Given the description of an element on the screen output the (x, y) to click on. 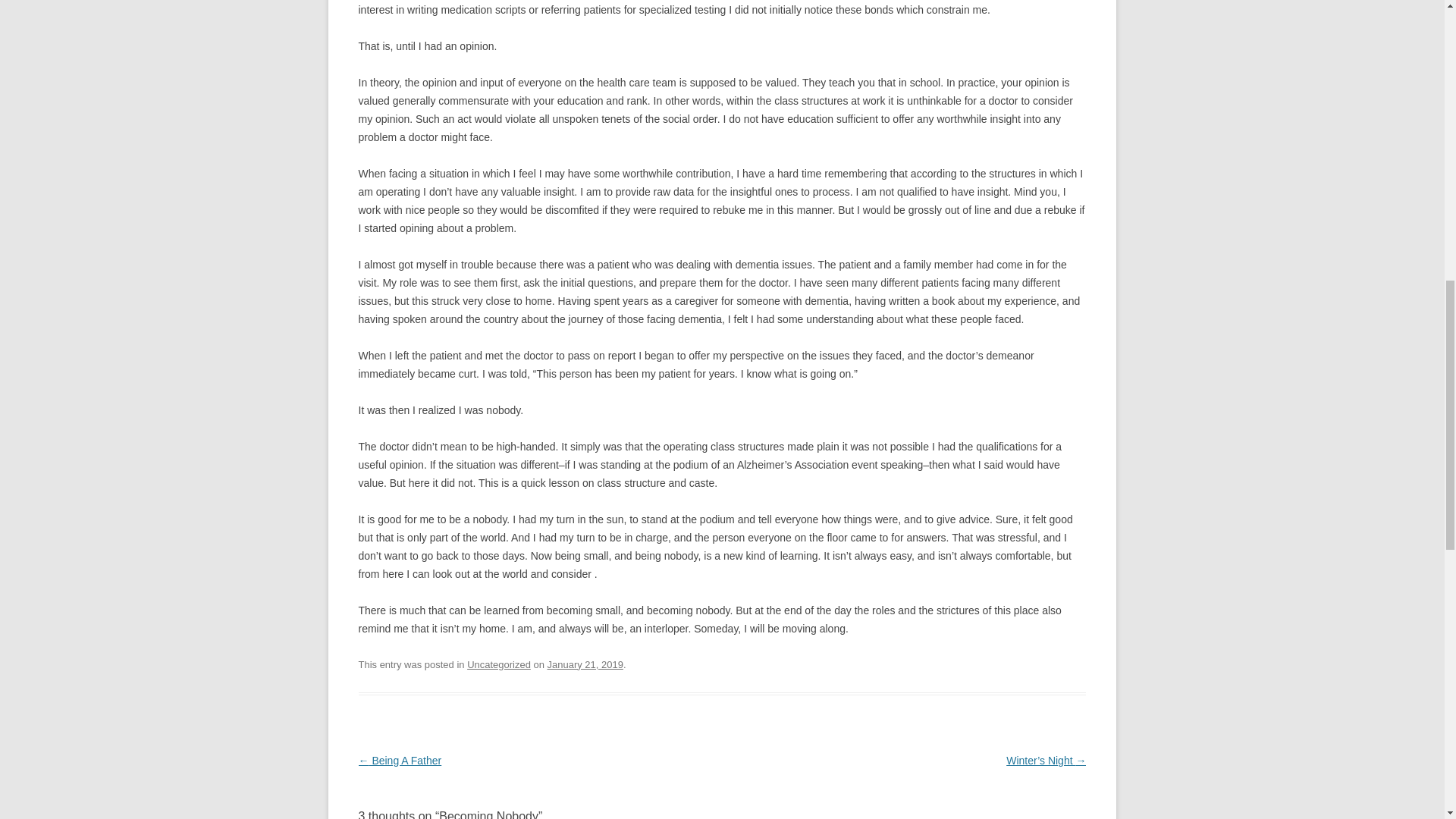
9:13 pm (585, 664)
January 21, 2019 (585, 664)
Uncategorized (499, 664)
